Given the description of an element on the screen output the (x, y) to click on. 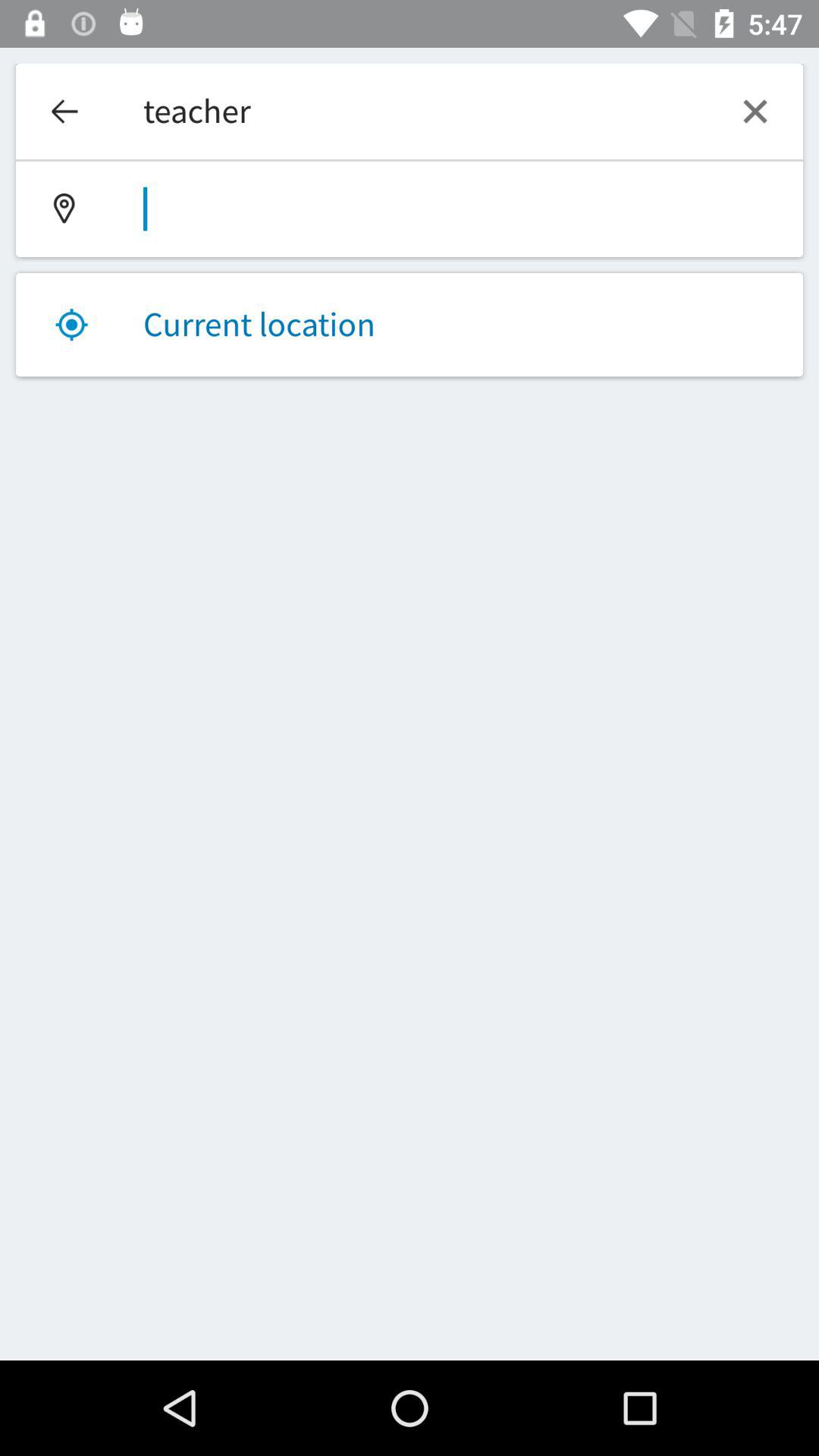
type destination (409, 209)
